Given the description of an element on the screen output the (x, y) to click on. 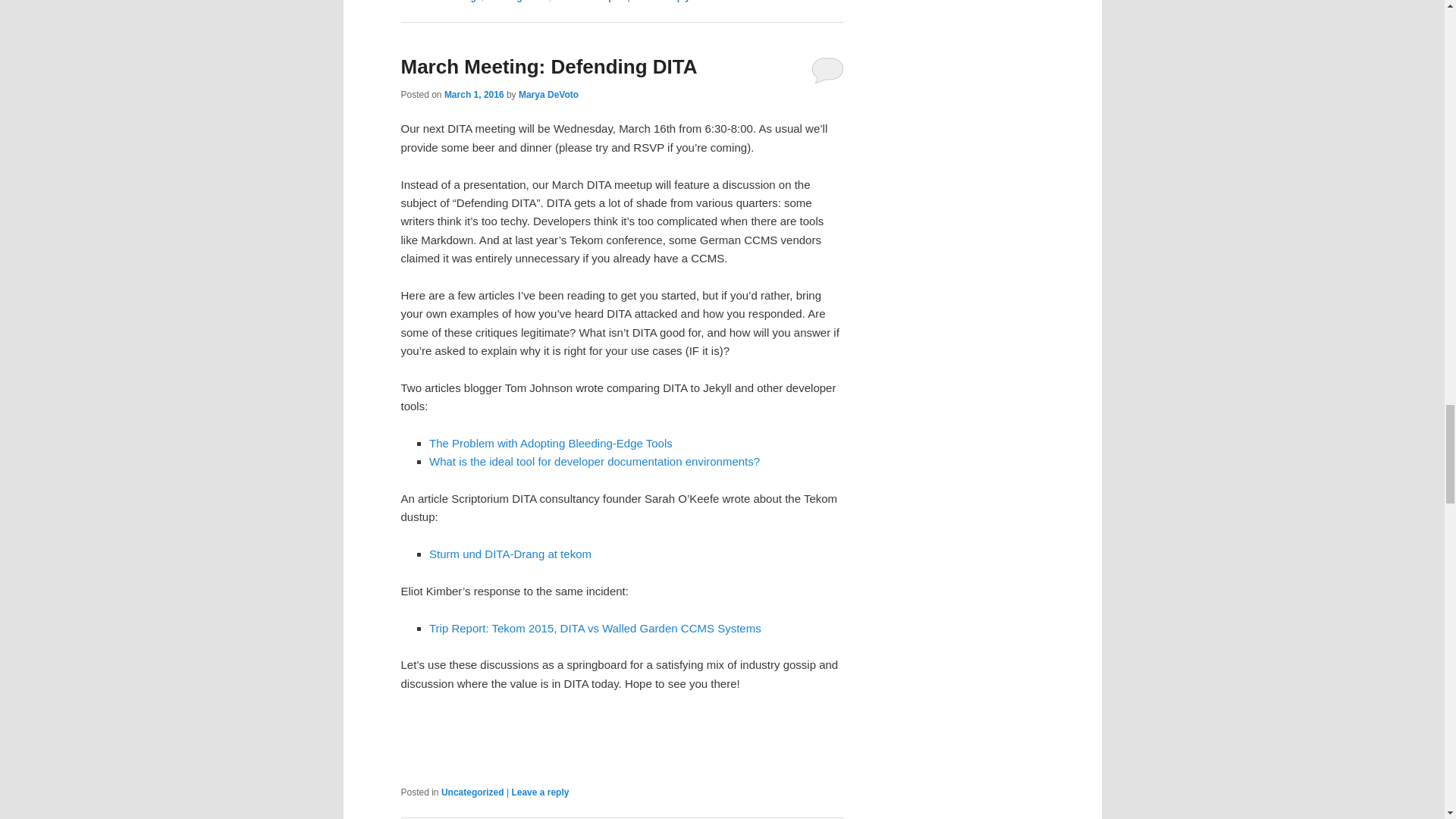
what we're up to (590, 1)
The Problem with Adopting Bleeding-Edge Tools (550, 442)
meetings (461, 1)
Leave a reply (660, 1)
Marya DeVoto (548, 94)
4:09 pm (473, 94)
March 1, 2016 (473, 94)
March Meeting: Defending DITA (548, 66)
Uncategorized (517, 1)
View all posts by Marya DeVoto (548, 94)
